Given the description of an element on the screen output the (x, y) to click on. 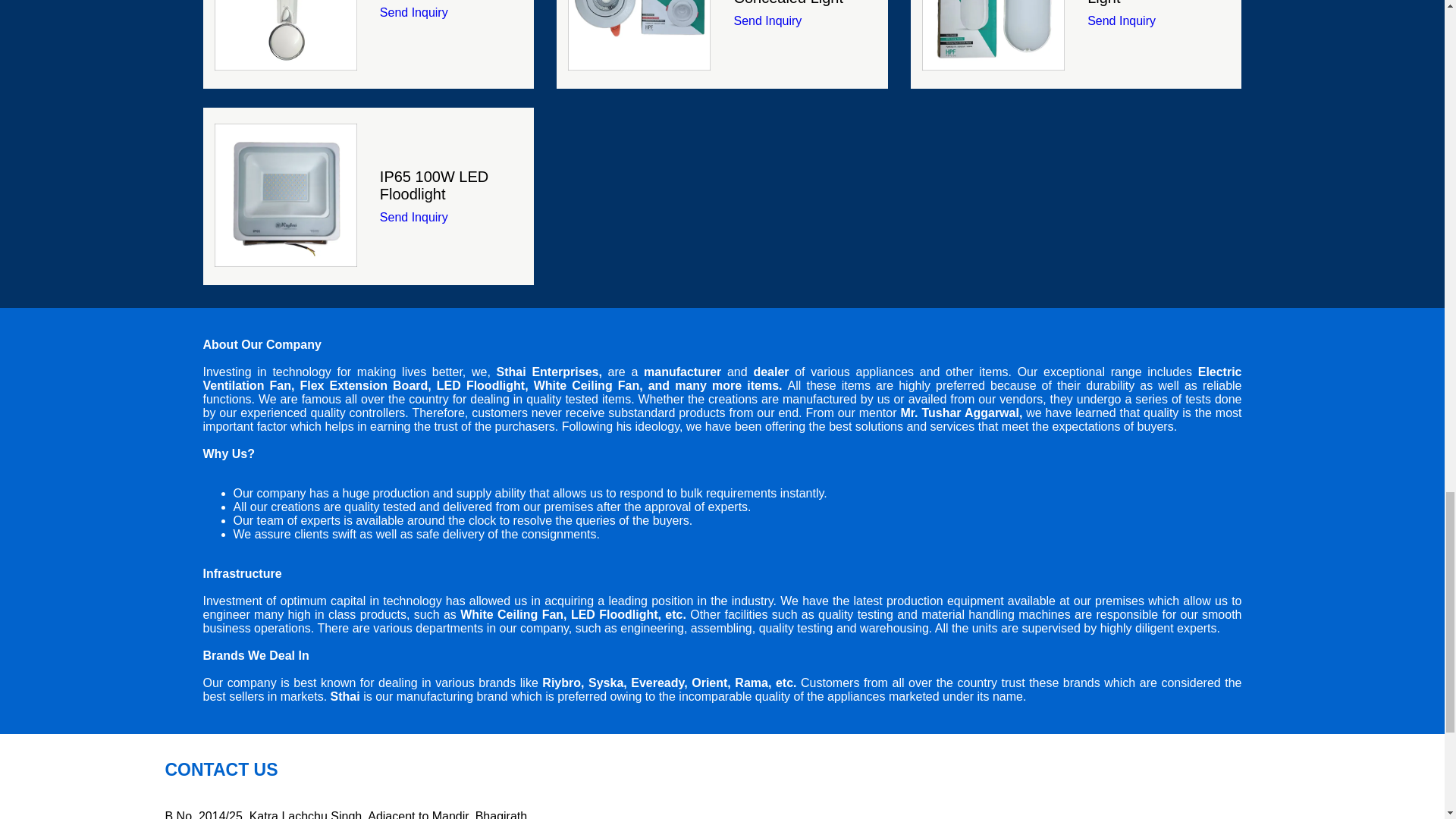
IP65 100W LED Floodlight (285, 194)
20W LED Bulkhead Light (992, 37)
7W Lens Moveable Concealed Light (638, 37)
White Ceiling Fan (285, 37)
